Given the description of an element on the screen output the (x, y) to click on. 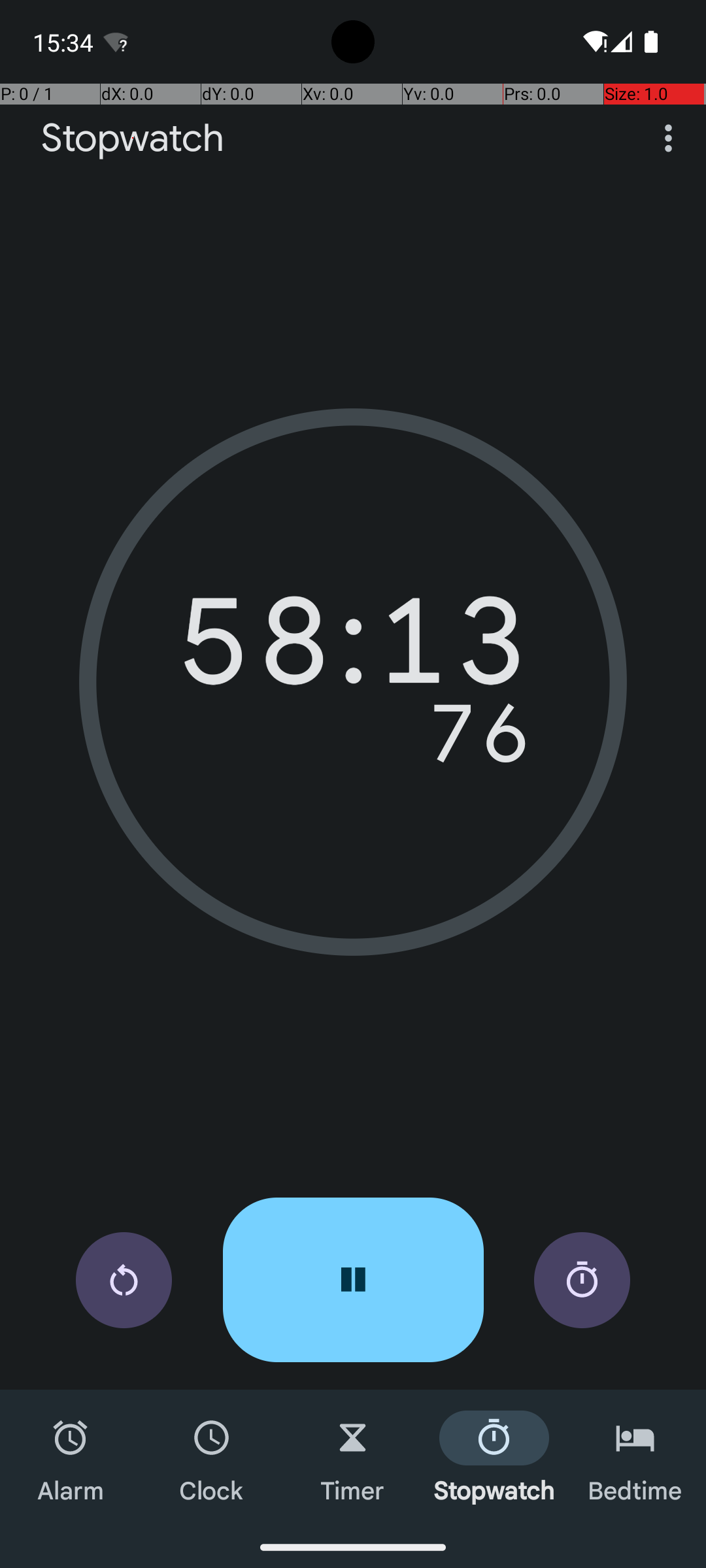
58:06 Element type: android.widget.TextView (352, 650)
